Given the description of an element on the screen output the (x, y) to click on. 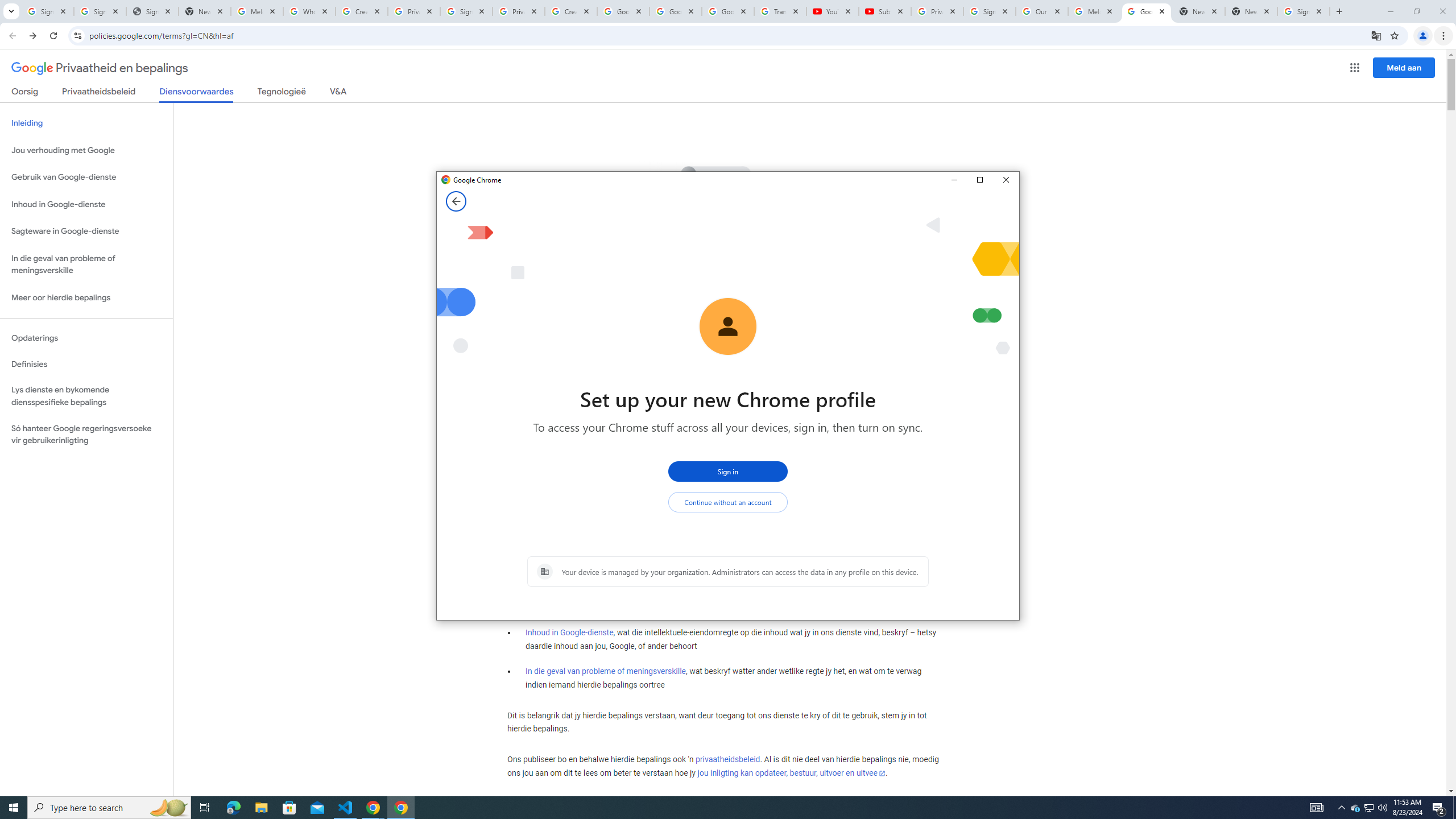
V&A (337, 93)
User Promoted Notification Area (1368, 807)
Notification Chevron (1341, 807)
jou inligting kan opdateer, bestuur, uitvoer en uitvee (791, 773)
Opdaterings (86, 338)
Privaatheidsbeleid (98, 93)
Diensvoorwaardes (196, 94)
Sign in - Google Accounts (99, 11)
Search highlights icon opens search home window (167, 807)
File Explorer (261, 807)
Sign in - Google Accounts (466, 11)
Show desktop (1454, 807)
